Given the description of an element on the screen output the (x, y) to click on. 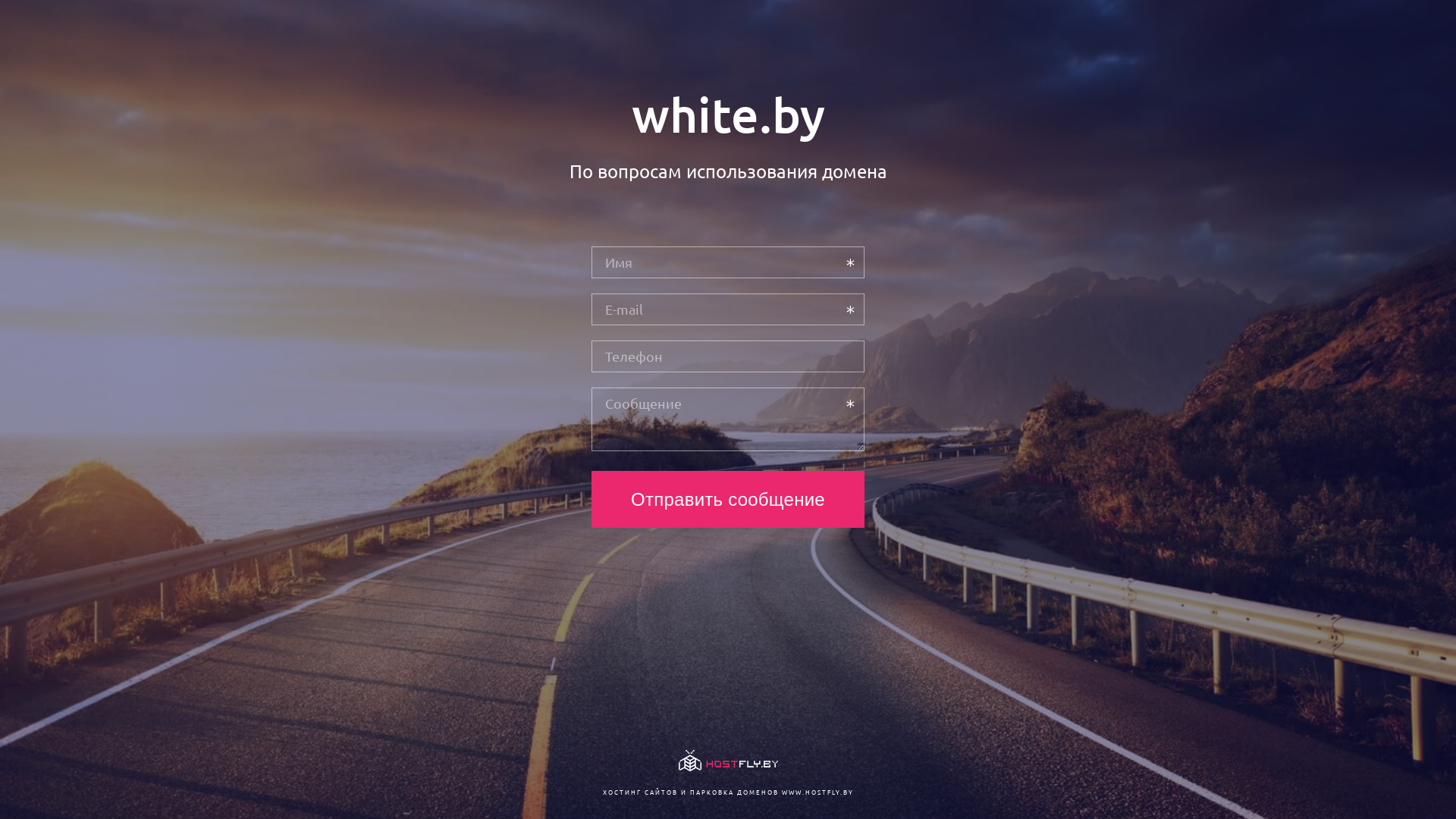
WWW.HOSTFLY.BY Element type: text (817, 791)
